Given the description of an element on the screen output the (x, y) to click on. 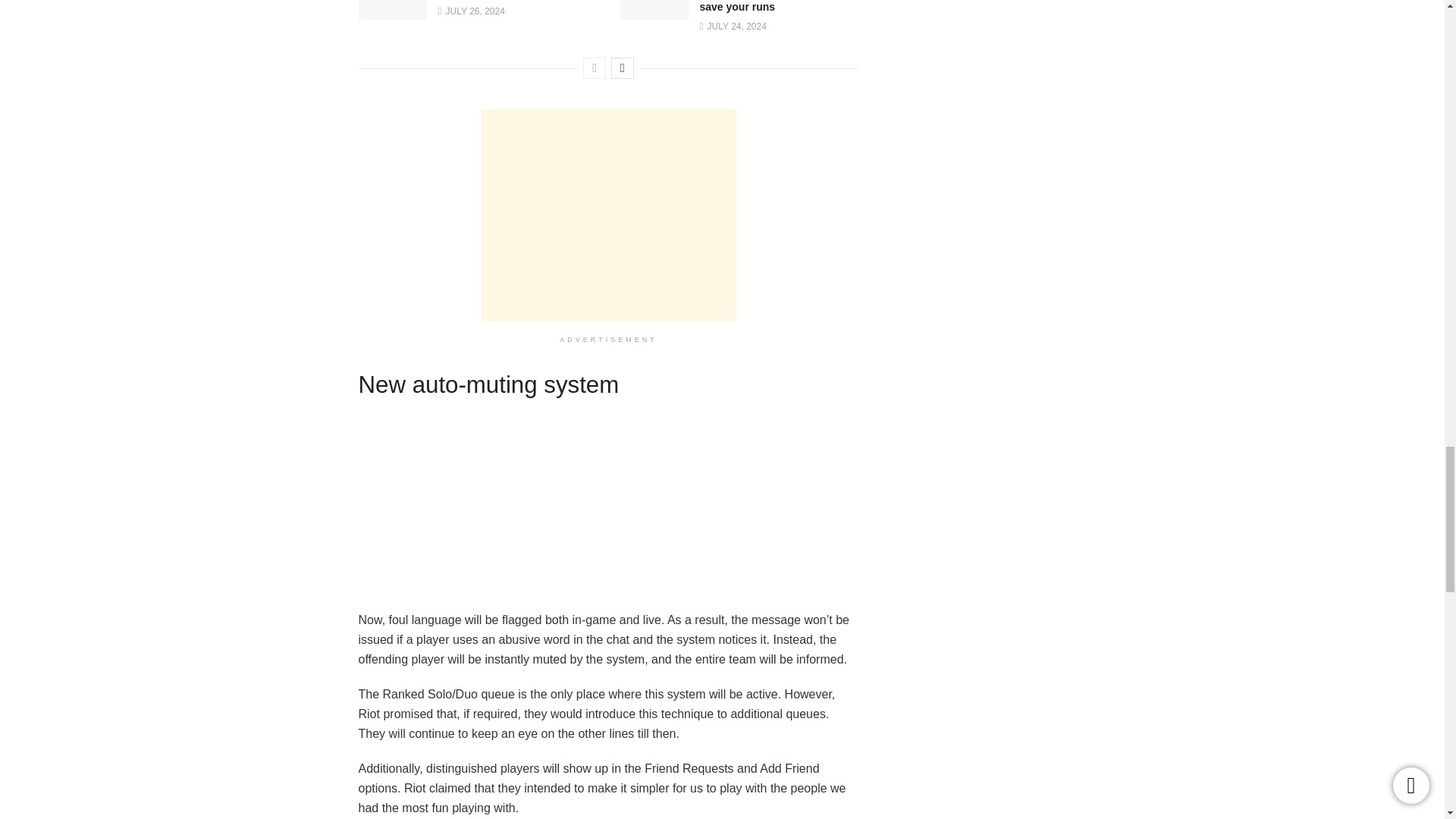
Next (622, 67)
LoL devs accidentally leaked a new Victorious skin on PBE 4 (392, 19)
Previous (594, 67)
